Given the description of an element on the screen output the (x, y) to click on. 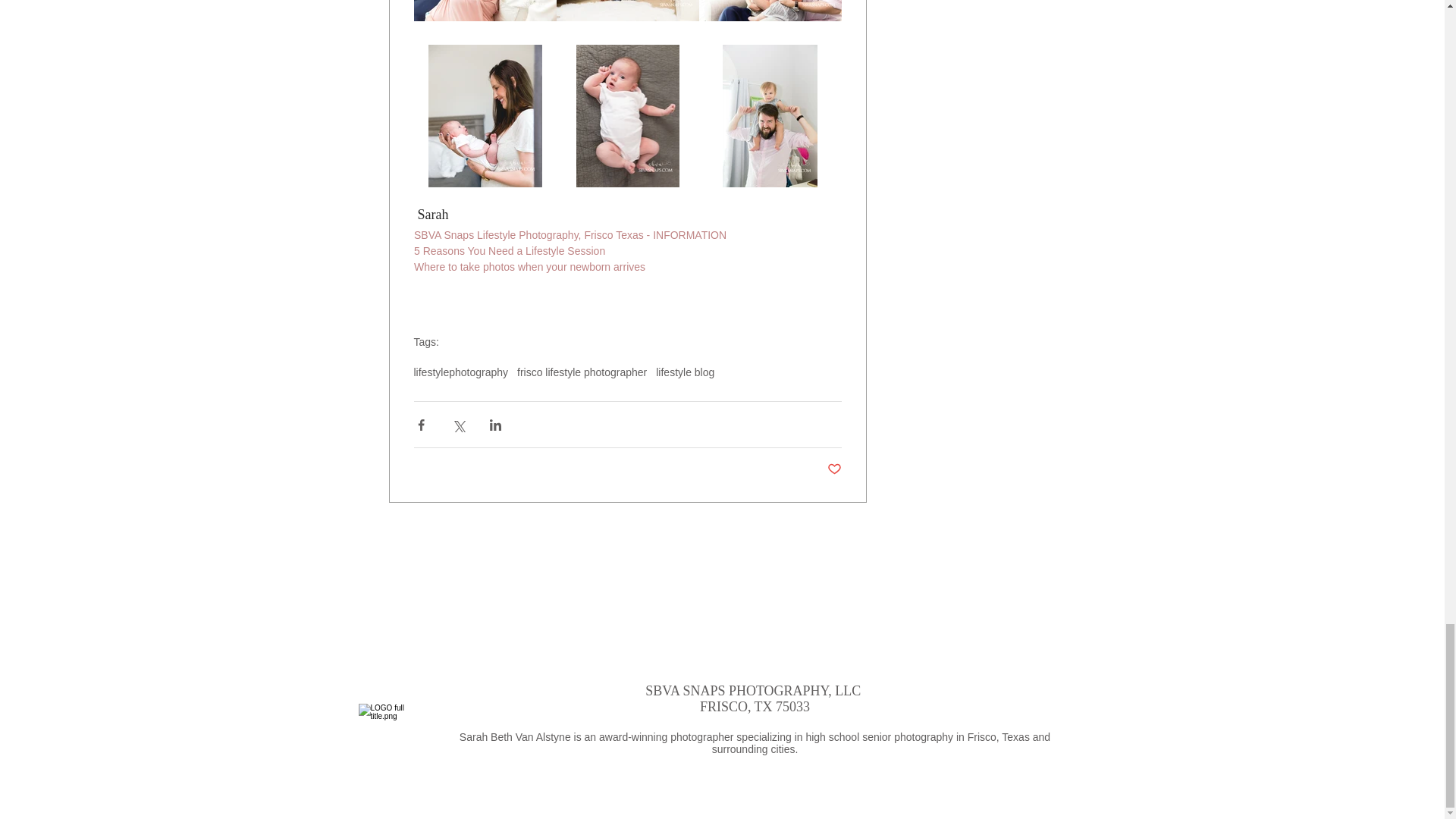
5 Reasons You Need a Lifestyle Session (509, 250)
Where to take photos when your newborn arrives (529, 266)
SBVA Snaps Lifestyle Photography, Frisco Texas - INFORMATION (569, 234)
lifestylephotography (460, 372)
lifestyle blog (685, 372)
frisco lifestyle photographer (581, 372)
Post not marked as liked (834, 469)
